Given the description of an element on the screen output the (x, y) to click on. 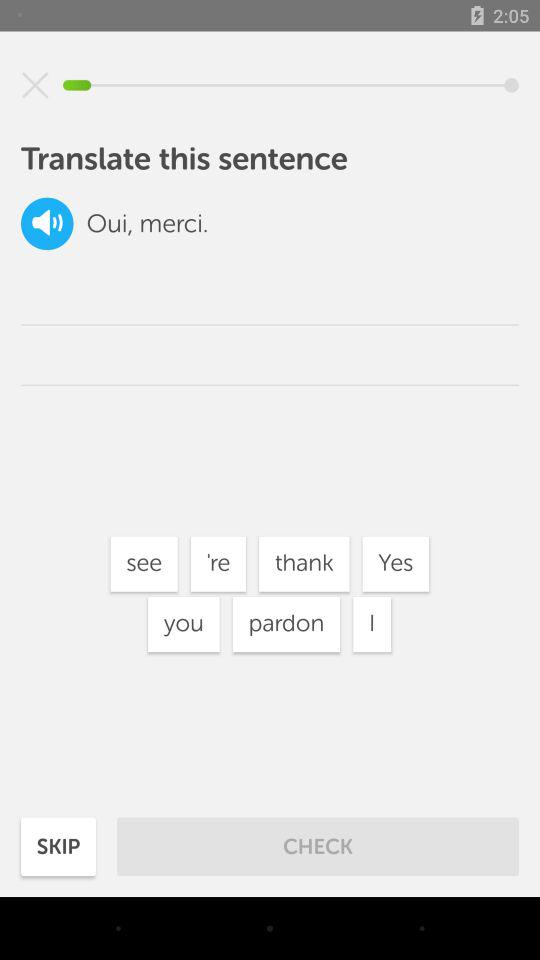
select item next to the oui, item (47, 223)
